Given the description of an element on the screen output the (x, y) to click on. 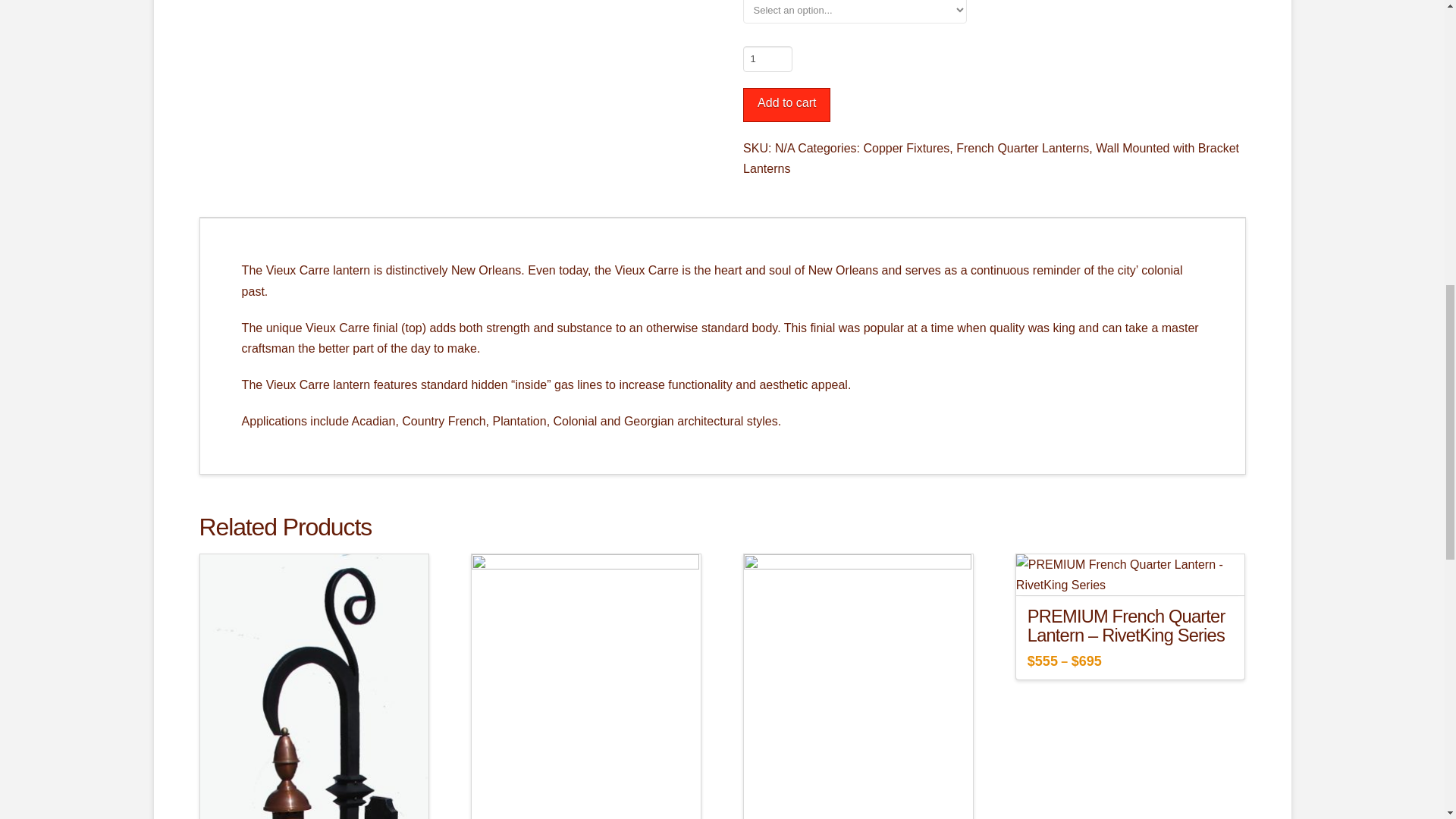
Copper Fixtures (906, 147)
Wall Mounted with Bracket Lanterns (990, 158)
Add to cart (785, 104)
French Quarter Lanterns (1022, 147)
1 (767, 58)
